Given the description of an element on the screen output the (x, y) to click on. 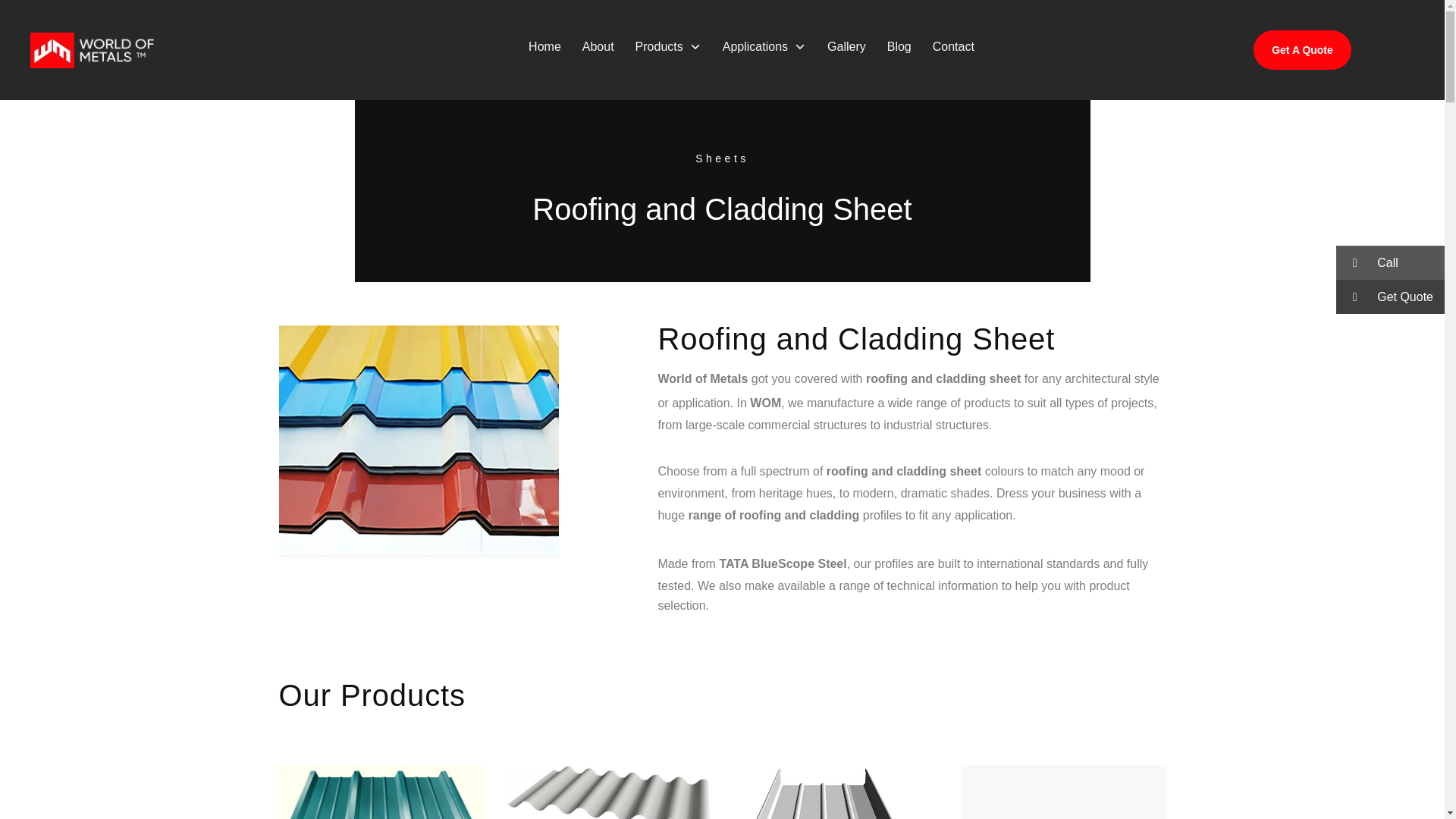
Products (667, 46)
Home (545, 46)
About (598, 46)
